Given the description of an element on the screen output the (x, y) to click on. 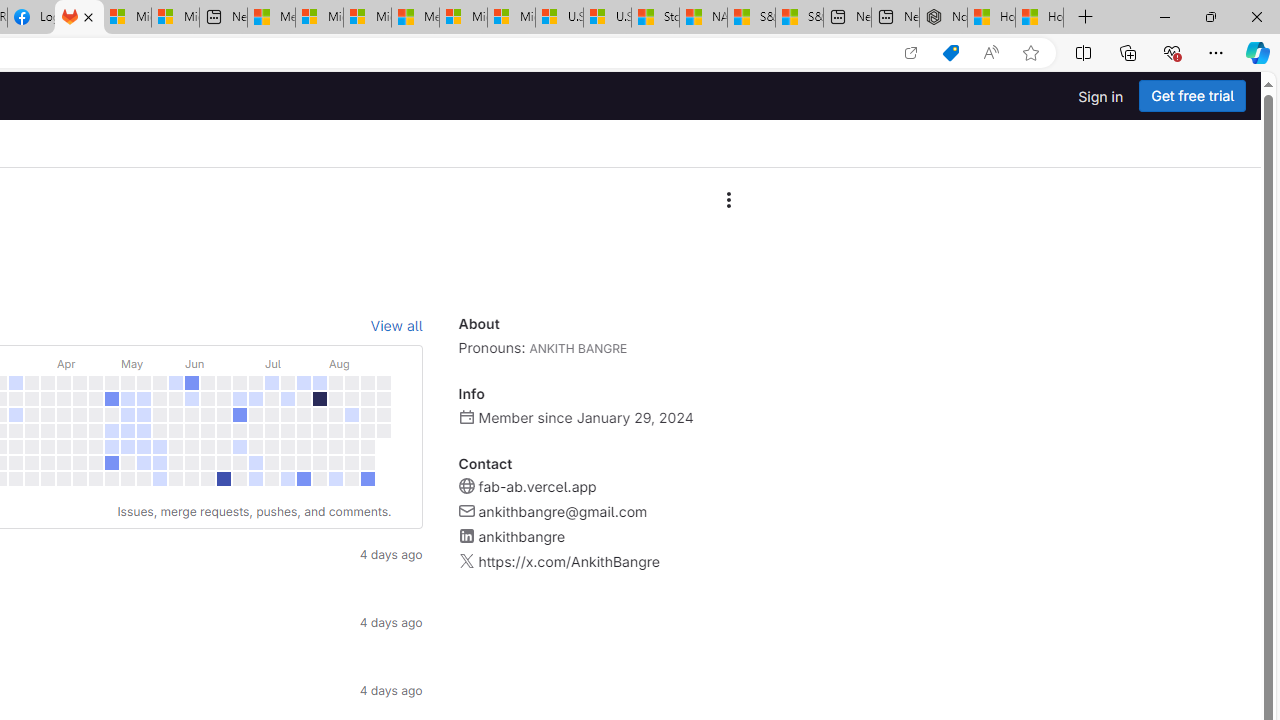
Open in app (910, 53)
fab-ab.vercel.app (536, 486)
